Given the description of an element on the screen output the (x, y) to click on. 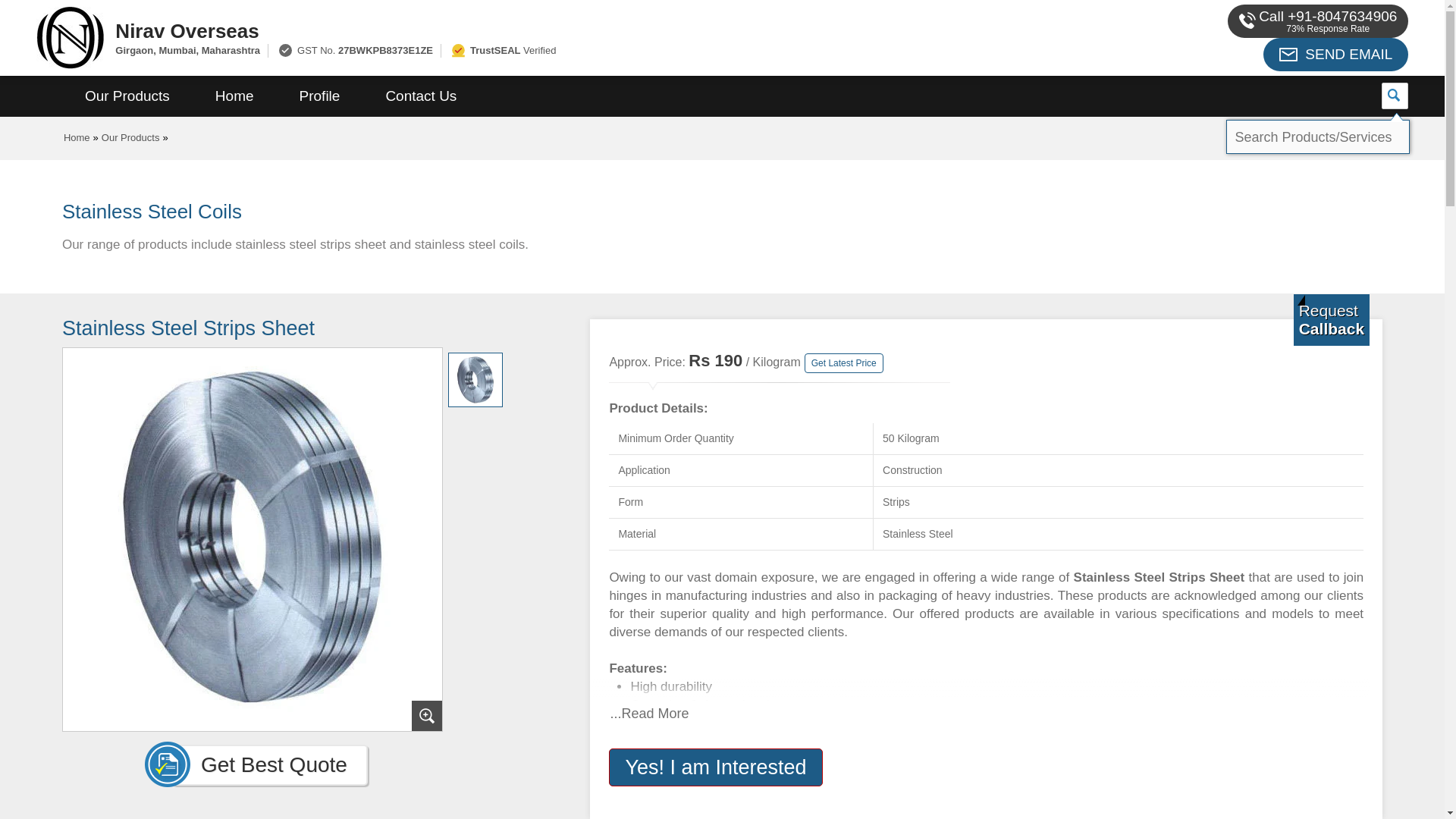
Get a Call from us (1332, 319)
Nirav Overseas (552, 31)
Our Products (127, 96)
